Given the description of an element on the screen output the (x, y) to click on. 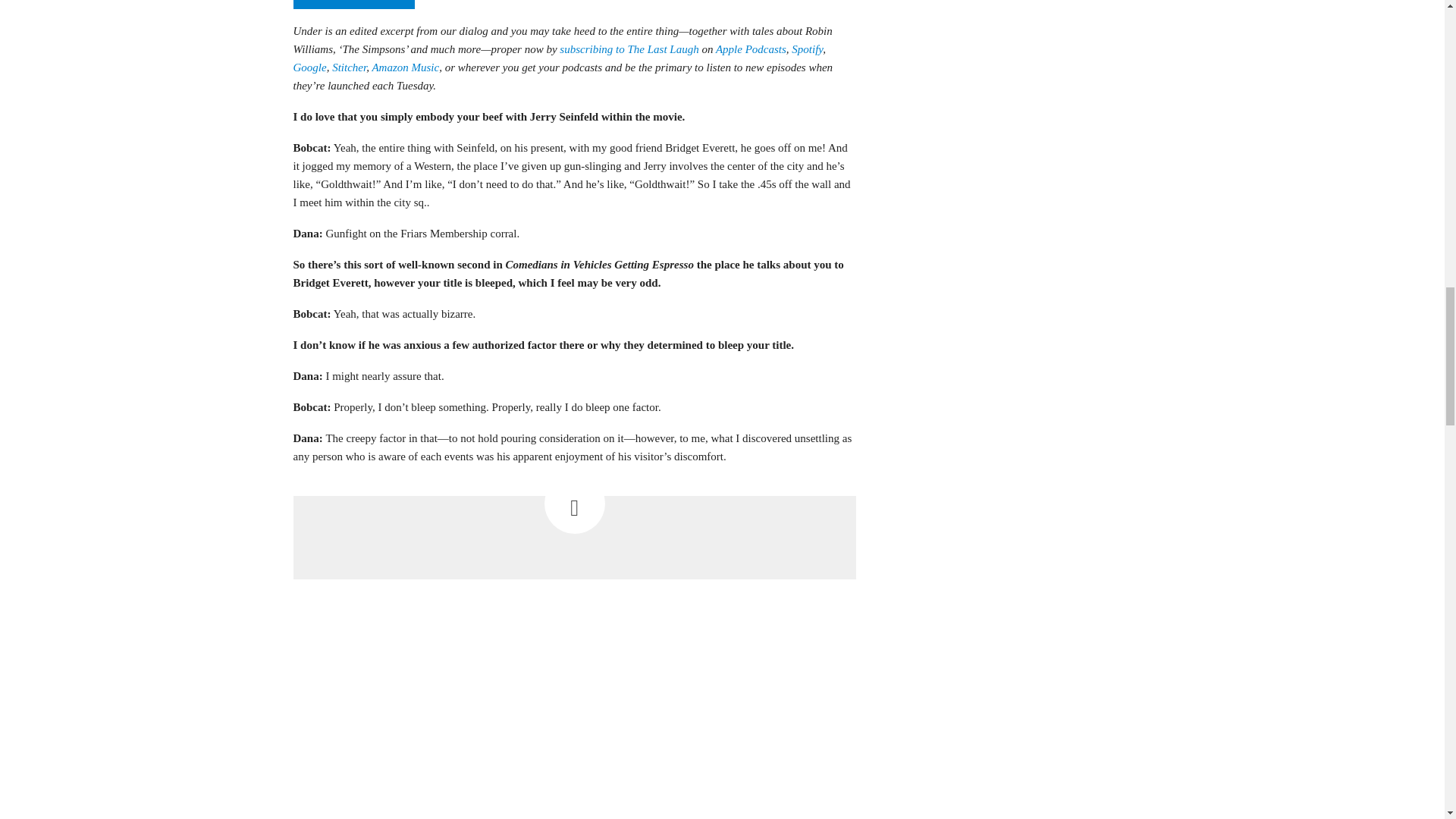
Apple Podcasts (751, 49)
Stitcher (348, 67)
STORY CONTINUES (352, 4)
Amazon Music (405, 67)
Spotify (807, 49)
subscribing to The Last Laugh (628, 49)
Google (309, 67)
